Given the description of an element on the screen output the (x, y) to click on. 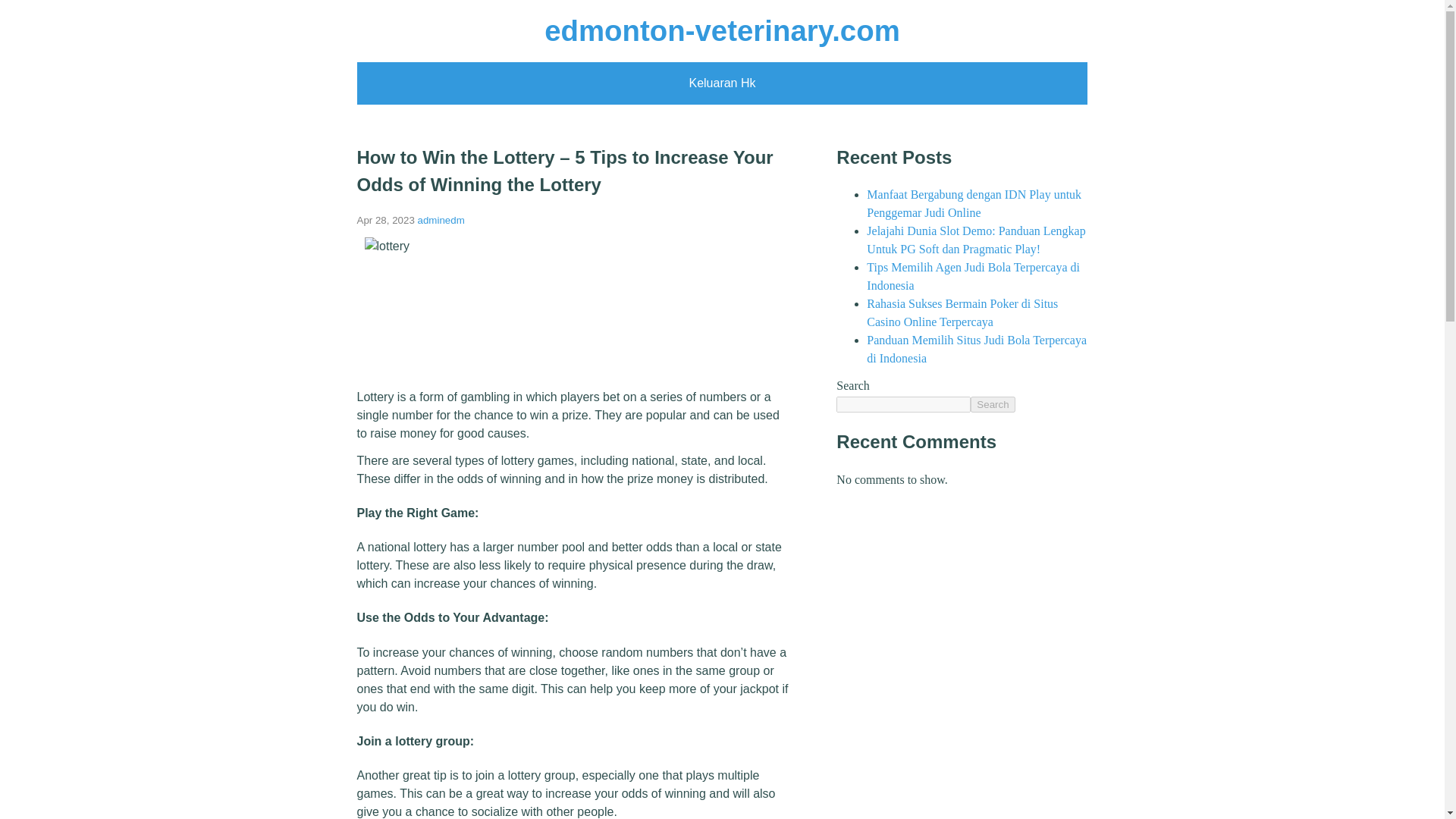
Search (992, 404)
Panduan Memilih Situs Judi Bola Terpercaya di Indonesia (976, 348)
adminedm (440, 220)
edmonton-veterinary.com (721, 30)
Keluaran Hk (721, 82)
Tips Memilih Agen Judi Bola Terpercaya di Indonesia (973, 276)
